Given the description of an element on the screen output the (x, y) to click on. 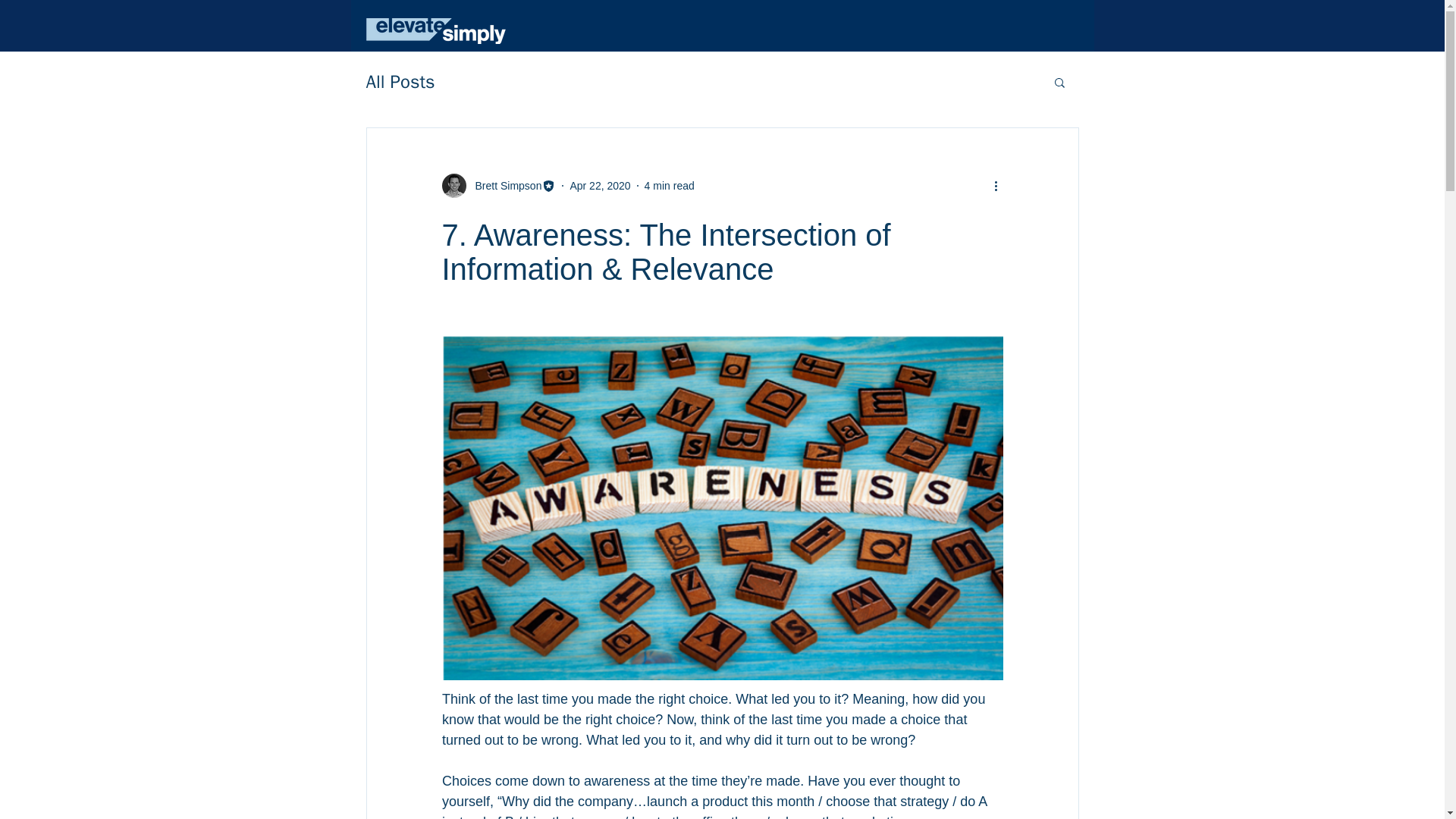
All Posts (399, 81)
Brett Simpson (503, 185)
4 min read (669, 184)
Apr 22, 2020 (599, 184)
